Given the description of an element on the screen output the (x, y) to click on. 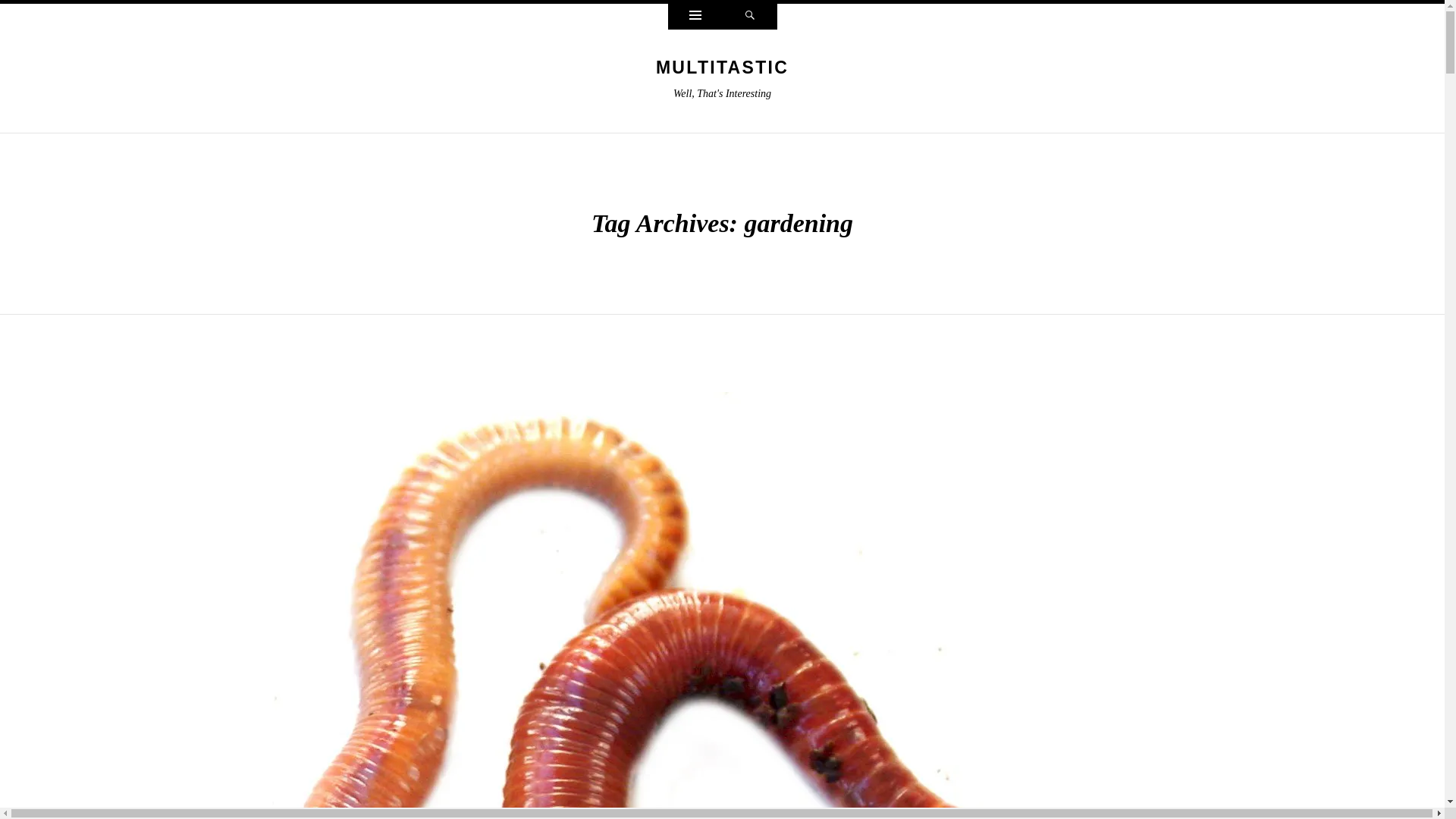
MULTITASTIC (722, 66)
Multitastic (722, 66)
Search (749, 16)
Search (749, 16)
Widgets (694, 16)
Widgets (694, 16)
